Given the description of an element on the screen output the (x, y) to click on. 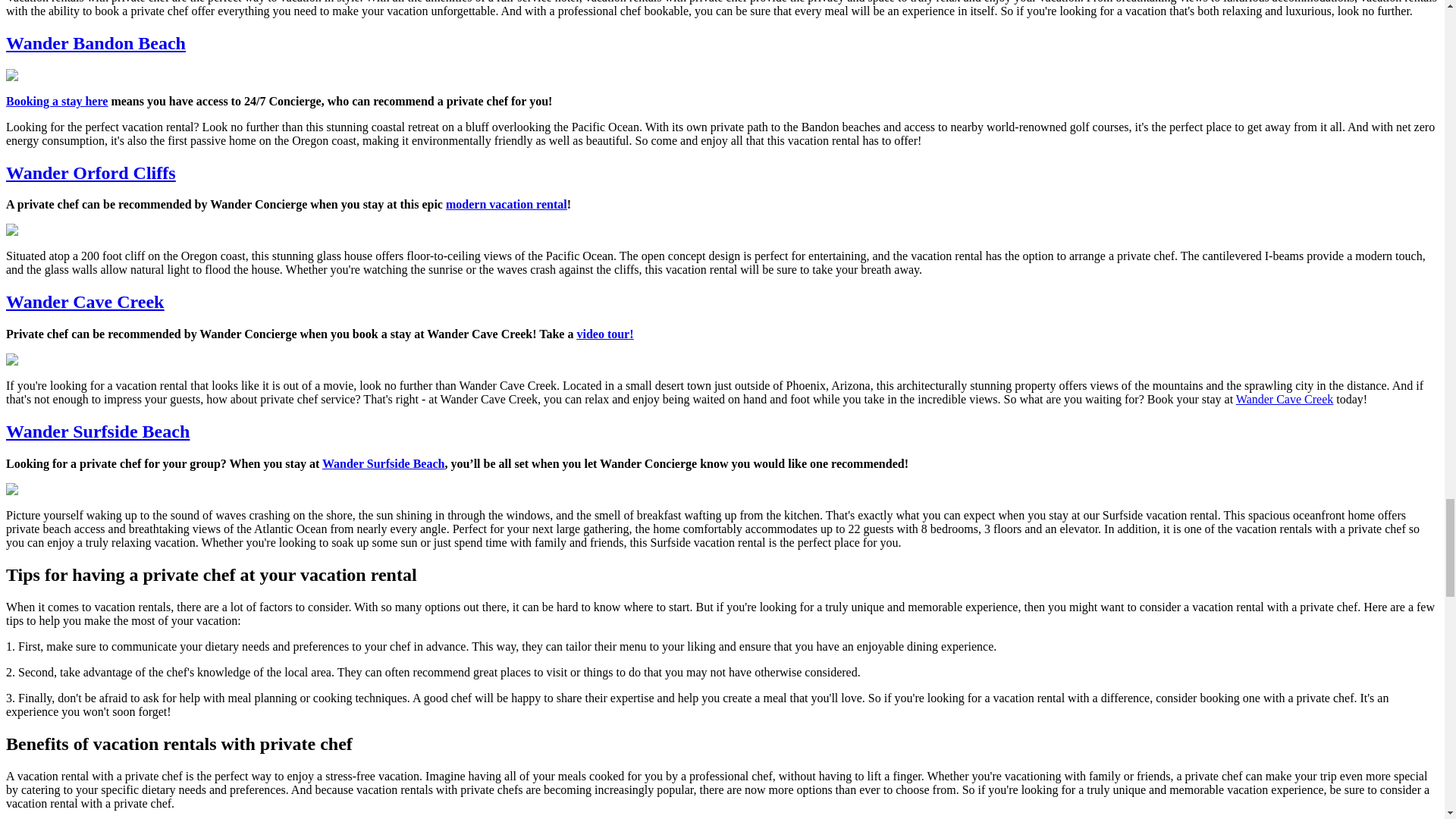
Wander Surfside Beach (383, 463)
Wander Surfside Beach (97, 431)
Wander Orford Cliffs (90, 172)
video tour! (604, 333)
Wander Cave Creek (1284, 399)
View from kitchen table (92, 359)
Wander Cave Creek (84, 301)
modern vacation rental (506, 204)
Wander Bandon Beach (95, 43)
Booking a stay here (56, 101)
